Given the description of an element on the screen output the (x, y) to click on. 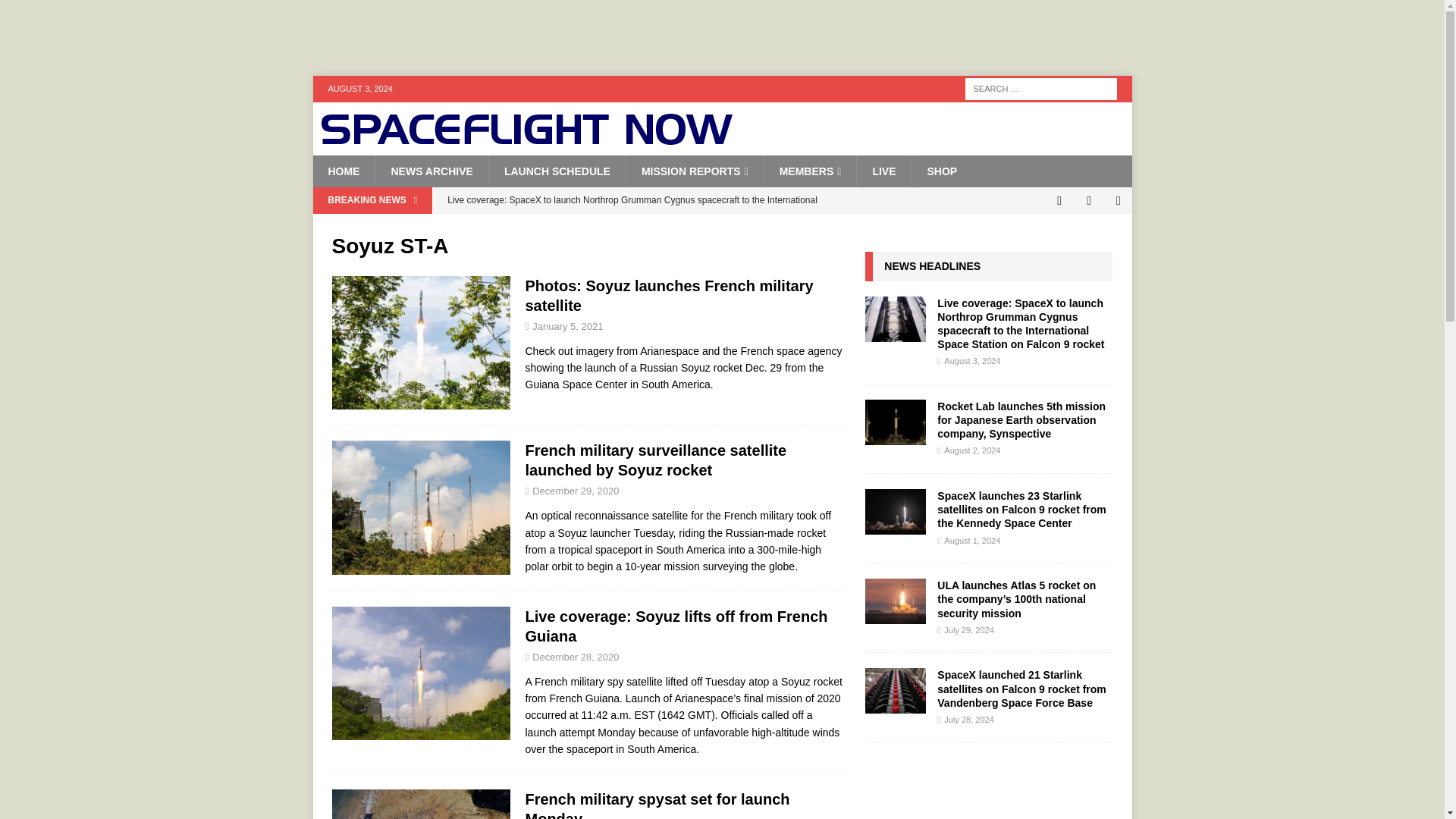
SHOP (941, 171)
LAUNCH SCHEDULE (556, 171)
December 29, 2020 (575, 490)
French military spysat set for launch Monday (656, 804)
Photos: Soyuz launches French military satellite (668, 295)
LIVE (883, 171)
January 5, 2021 (567, 326)
MEMBERS (809, 171)
Photos: Soyuz launches French military satellite (668, 295)
Search (56, 11)
NEWS ARCHIVE (430, 171)
MISSION REPORTS (694, 171)
